Given the description of an element on the screen output the (x, y) to click on. 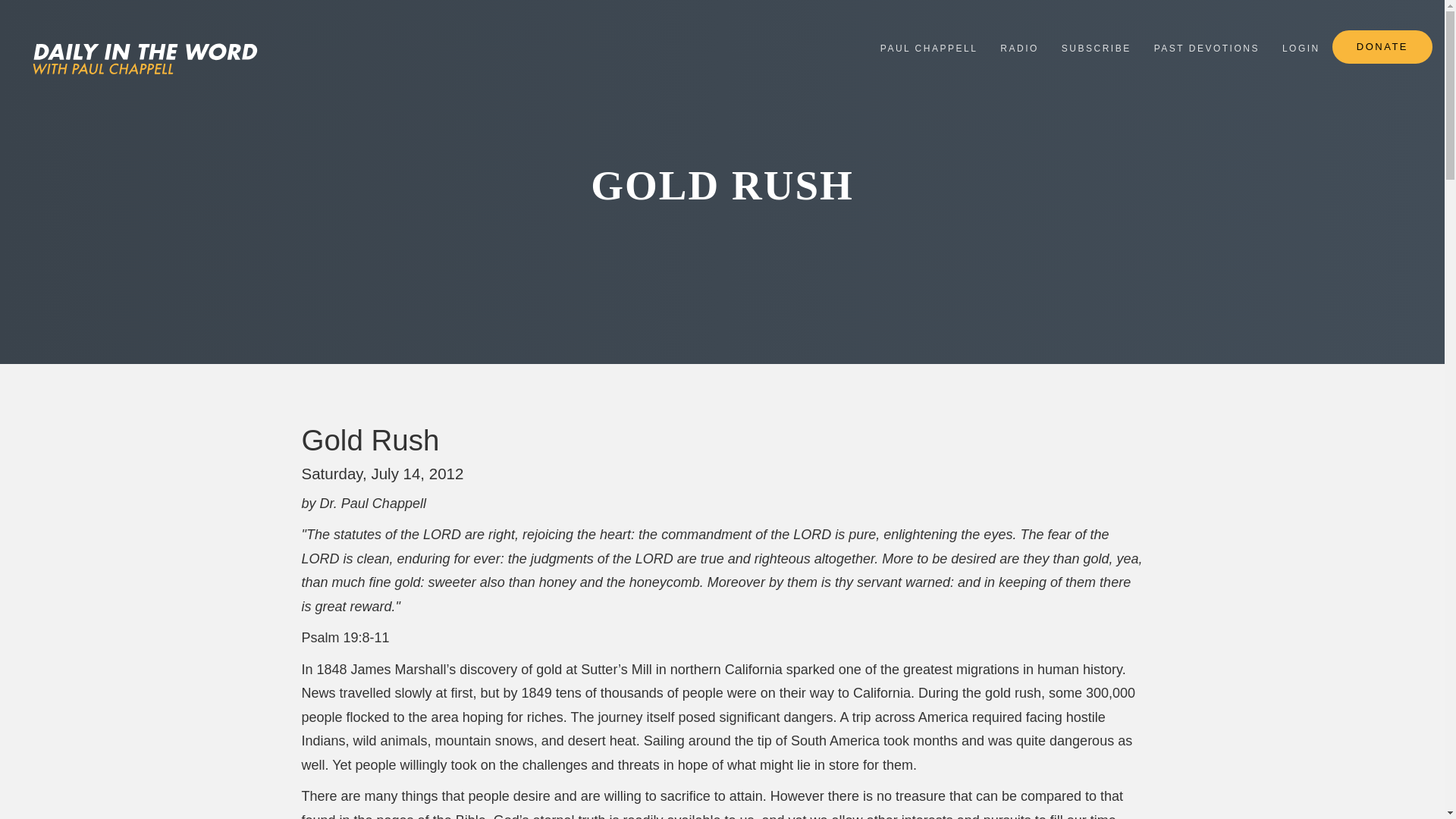
PAUL CHAPPELL (929, 46)
SUBSCRIBE (1095, 46)
LOGIN (1301, 46)
DONATE (1382, 46)
PAST DEVOTIONS (1206, 46)
Home (140, 58)
RADIO (1018, 46)
